Given the description of an element on the screen output the (x, y) to click on. 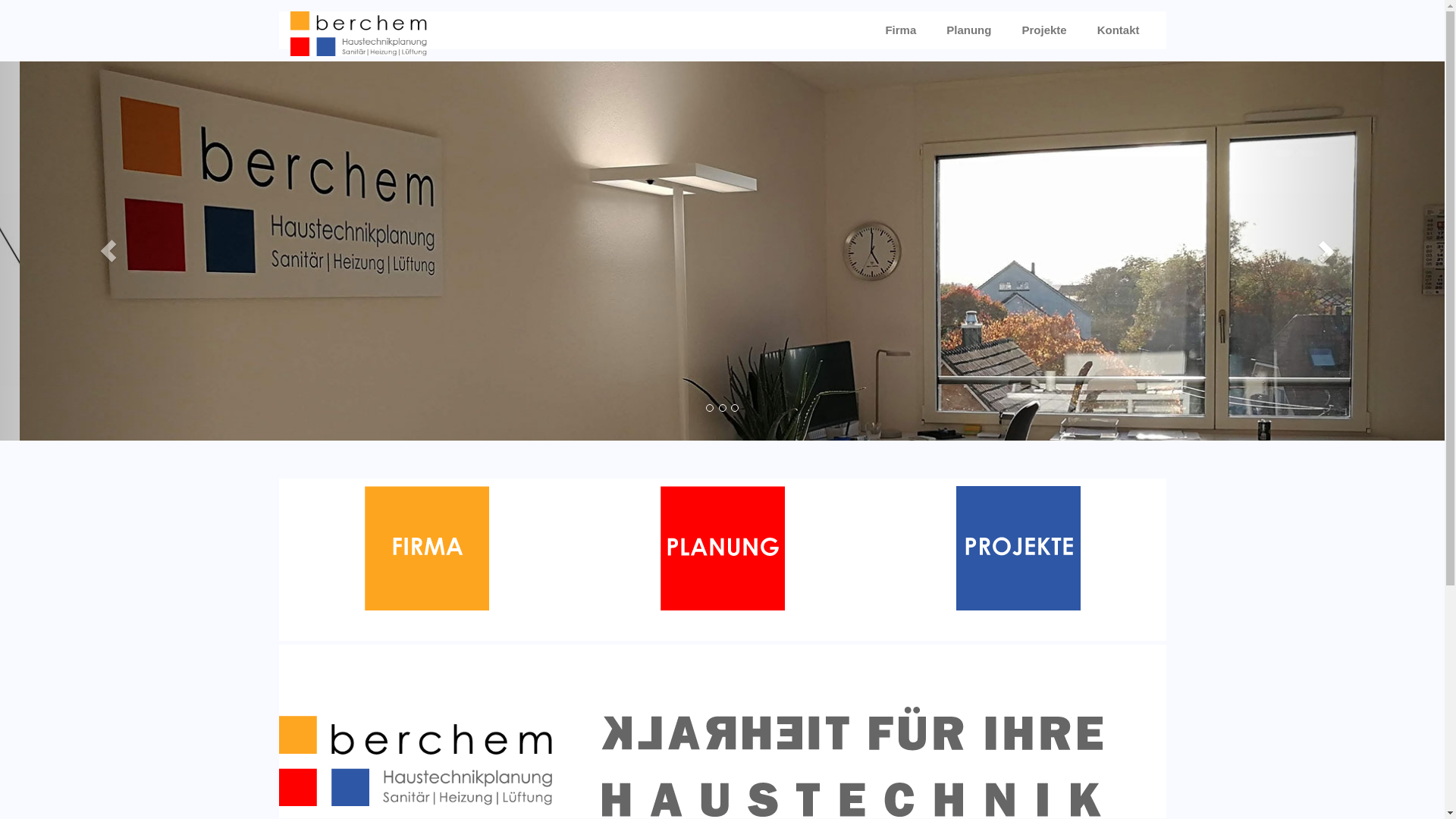
Planung Element type: text (968, 30)
Firma Element type: text (900, 30)
Kontakt Element type: text (1118, 30)
Projekte Element type: text (1043, 30)
